Given the description of an element on the screen output the (x, y) to click on. 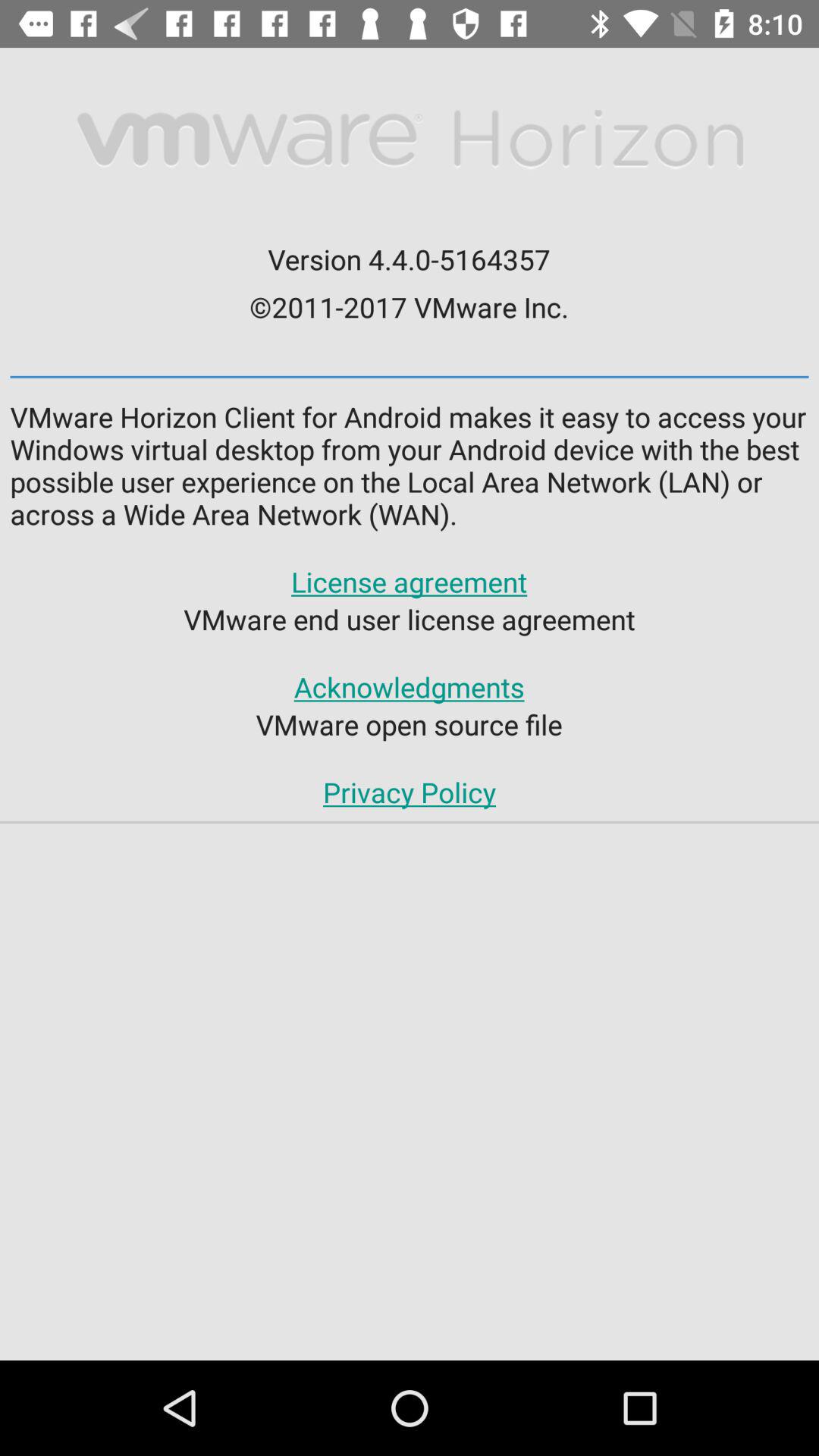
tap the privacy policy (409, 792)
